Given the description of an element on the screen output the (x, y) to click on. 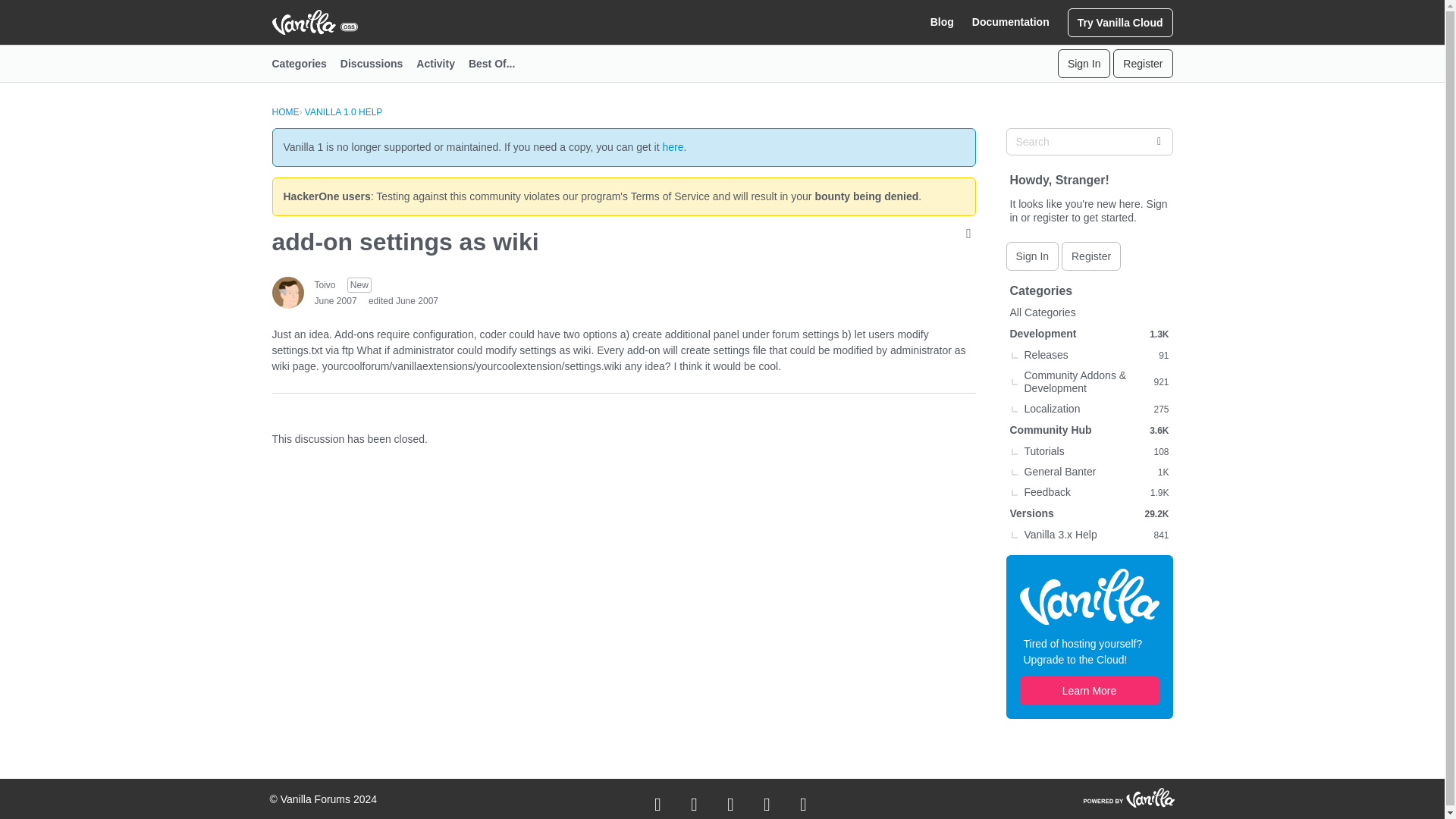
All Categories (1089, 312)
1,288 discussions (1159, 334)
841 discussions (1161, 534)
June 28, 2007 5:12AM (335, 300)
Best Of... (498, 63)
Activity (442, 63)
Try Vanilla Cloud (1120, 21)
Enter your search term. (1089, 141)
Sign In (1084, 63)
Toivo (324, 284)
Documentation (1011, 22)
Powered By Vanilla (1128, 797)
Register (1091, 256)
Edited June 28, 2007 5:12AM by Toivo. (403, 300)
29,182 discussions (1156, 513)
